Given the description of an element on the screen output the (x, y) to click on. 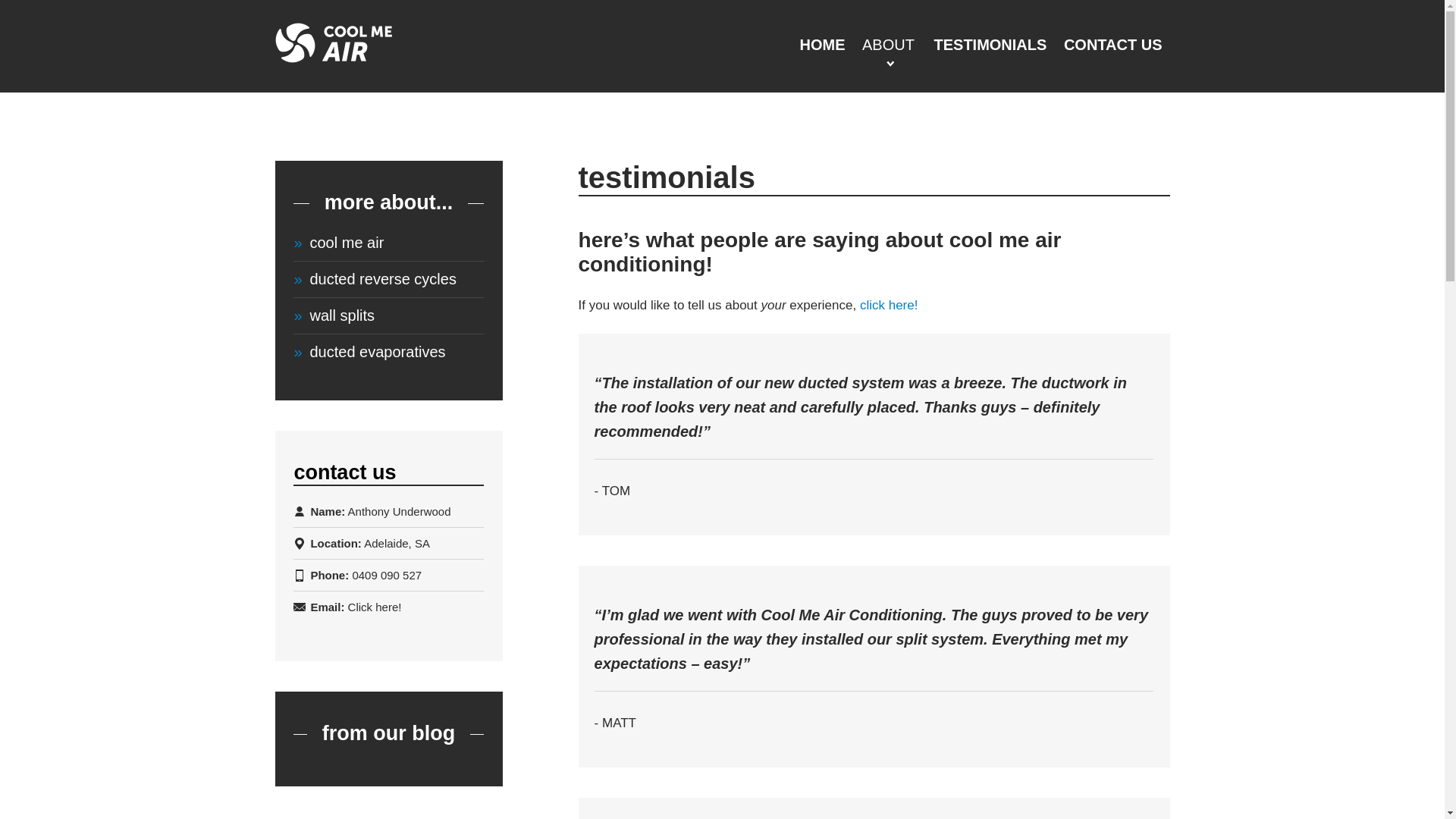
HOME Element type: text (822, 47)
0409 090 527 Element type: text (386, 574)
wall splits Element type: text (388, 314)
Click here! Element type: text (374, 606)
cool me air Element type: text (388, 242)
ducted evaporatives Element type: text (388, 351)
click here! Element type: text (888, 305)
ABOUT Element type: text (888, 44)
CONTACT US Element type: text (1113, 47)
ducted reverse cycles Element type: text (388, 278)
TESTIMONIALS Element type: text (989, 47)
